Given the description of an element on the screen output the (x, y) to click on. 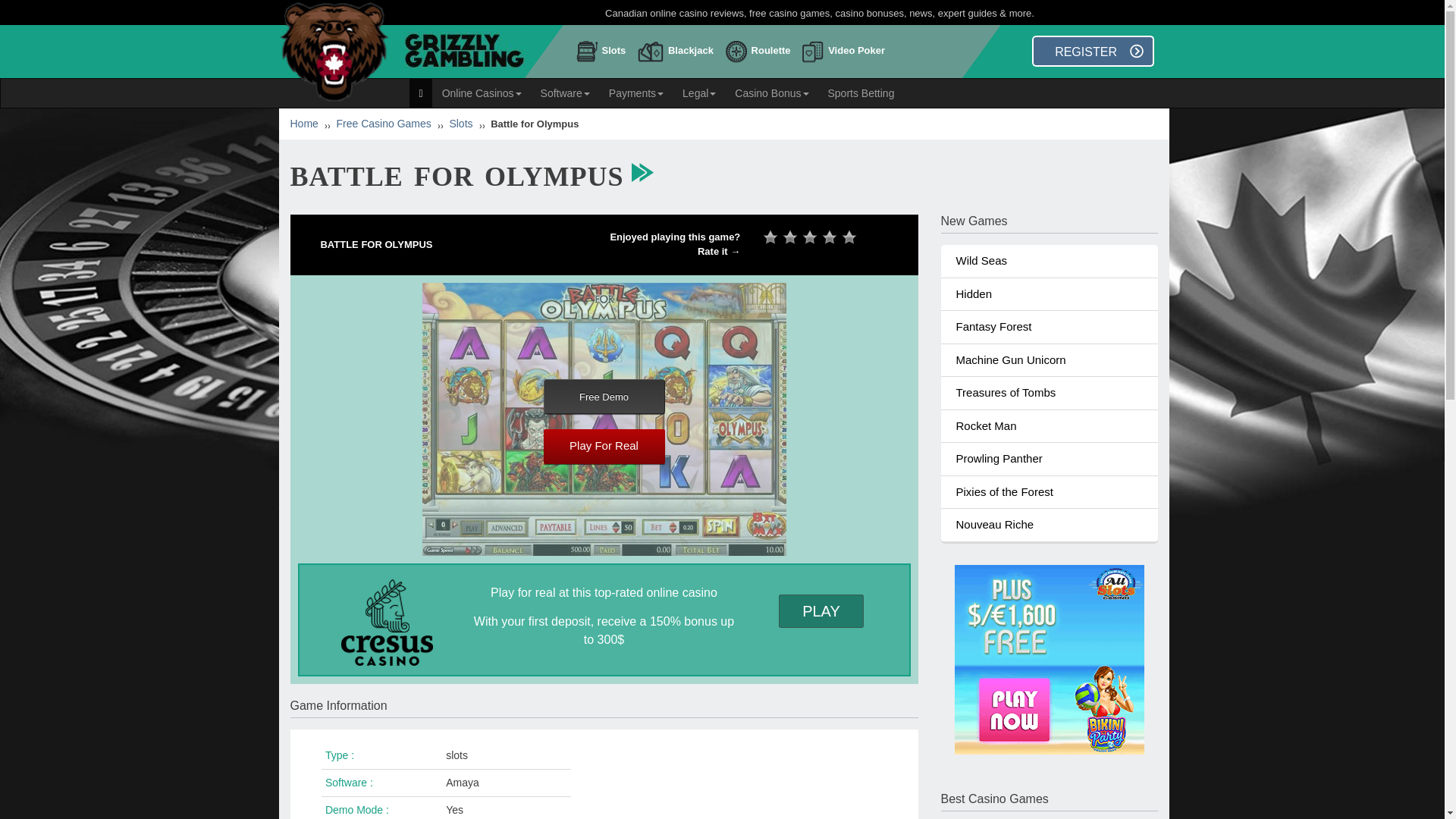
Average (812, 237)
Battle for Olympus Game Preview (604, 419)
Roulette (761, 54)
Slots (604, 54)
REGISTER (1093, 51)
Video Poker (847, 54)
Good (831, 237)
Blackjack (678, 54)
Excellent (851, 237)
Payments (635, 92)
Online Casinos (481, 92)
all slots no deposit free spins (1047, 658)
Horrible (772, 237)
Cresus Casino (386, 623)
Bad (792, 237)
